Given the description of an element on the screen output the (x, y) to click on. 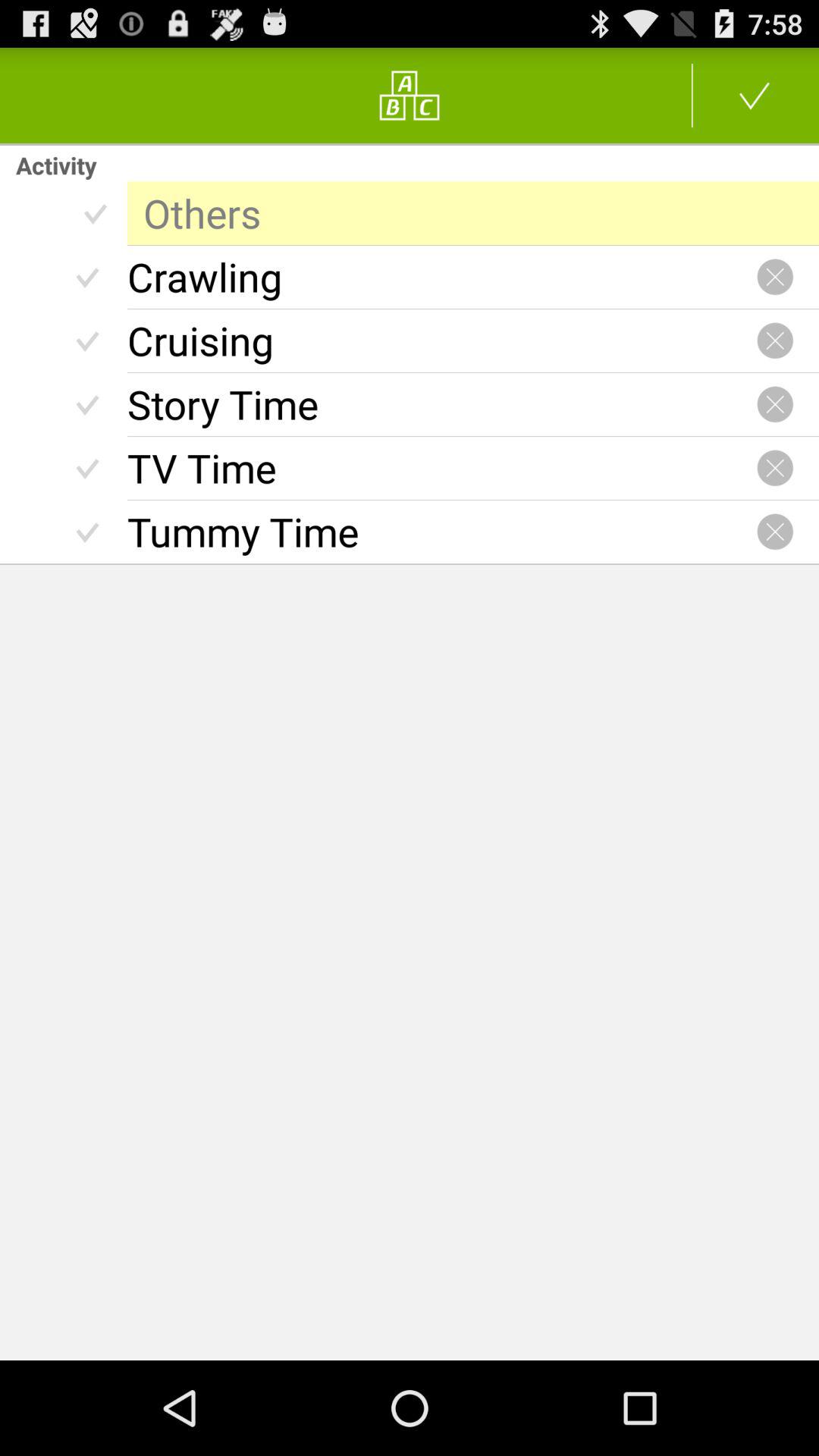
swipe to the tummy time (441, 531)
